Given the description of an element on the screen output the (x, y) to click on. 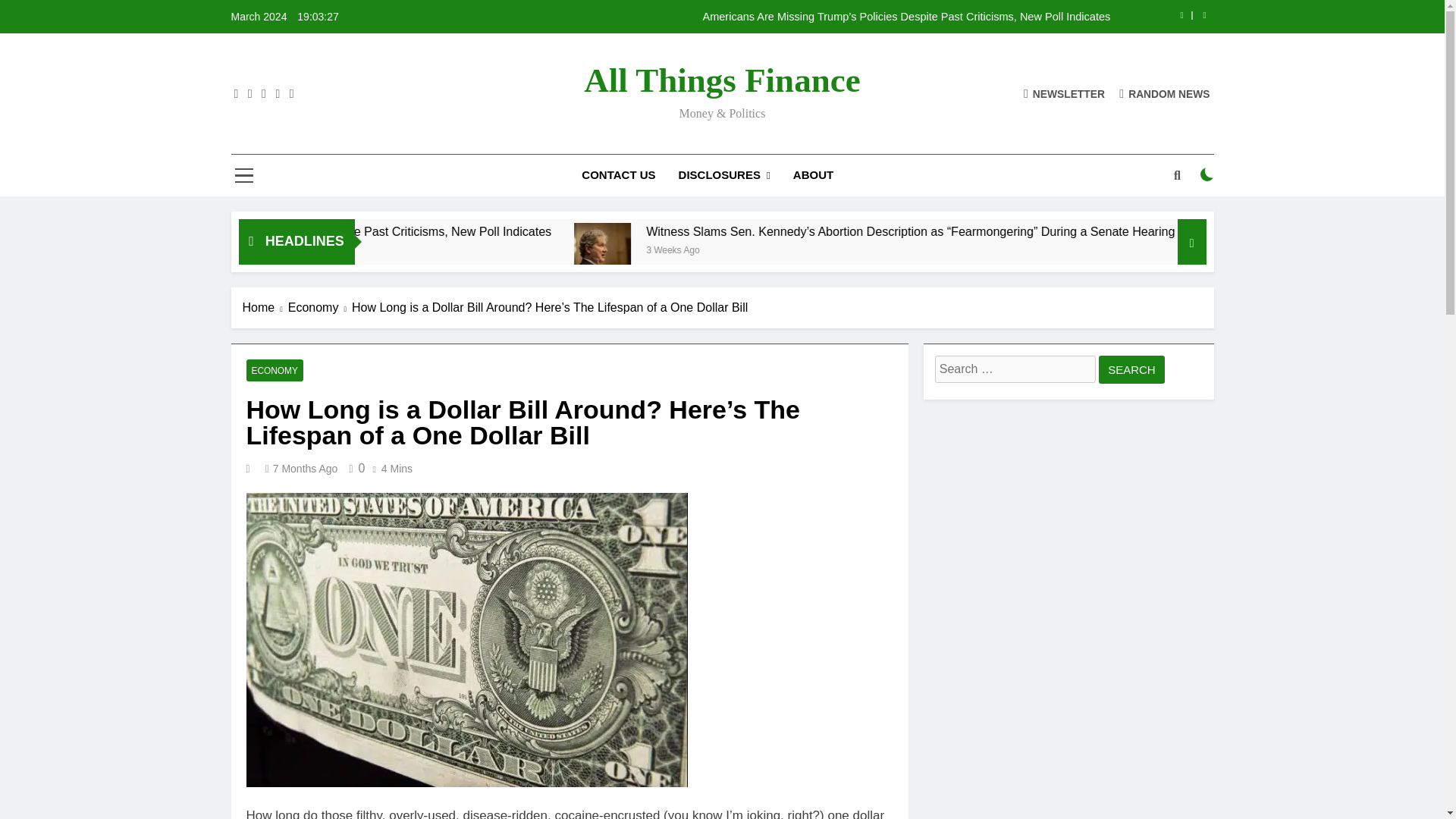
Search (1131, 369)
ABOUT (812, 174)
3 Weeks Ago (890, 248)
RANDOM NEWS (1164, 92)
CONTACT US (618, 174)
DISCLOSURES (723, 175)
Search (1131, 369)
All Things Finance (721, 80)
NEWSLETTER (1064, 92)
on (1206, 173)
3 Weeks Ago (355, 248)
